Given the description of an element on the screen output the (x, y) to click on. 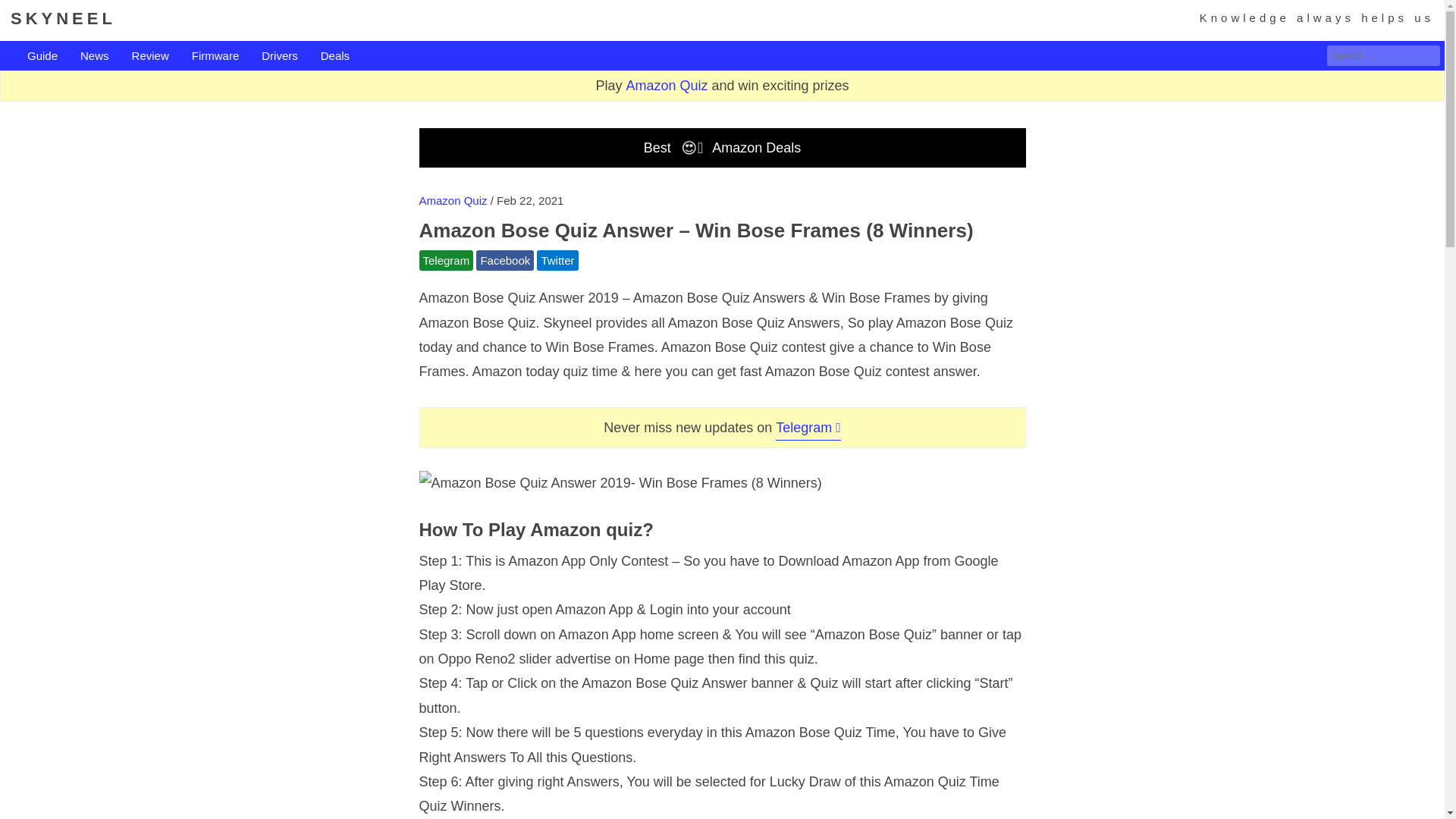
Guide (42, 55)
News (94, 55)
Telegram (446, 260)
Amazon Quiz (452, 200)
Join us on Facebook (505, 260)
Join us on Telegram (446, 260)
Deals (334, 55)
Firmware (216, 55)
Drivers (280, 55)
SKYNEEL (63, 18)
